Given the description of an element on the screen output the (x, y) to click on. 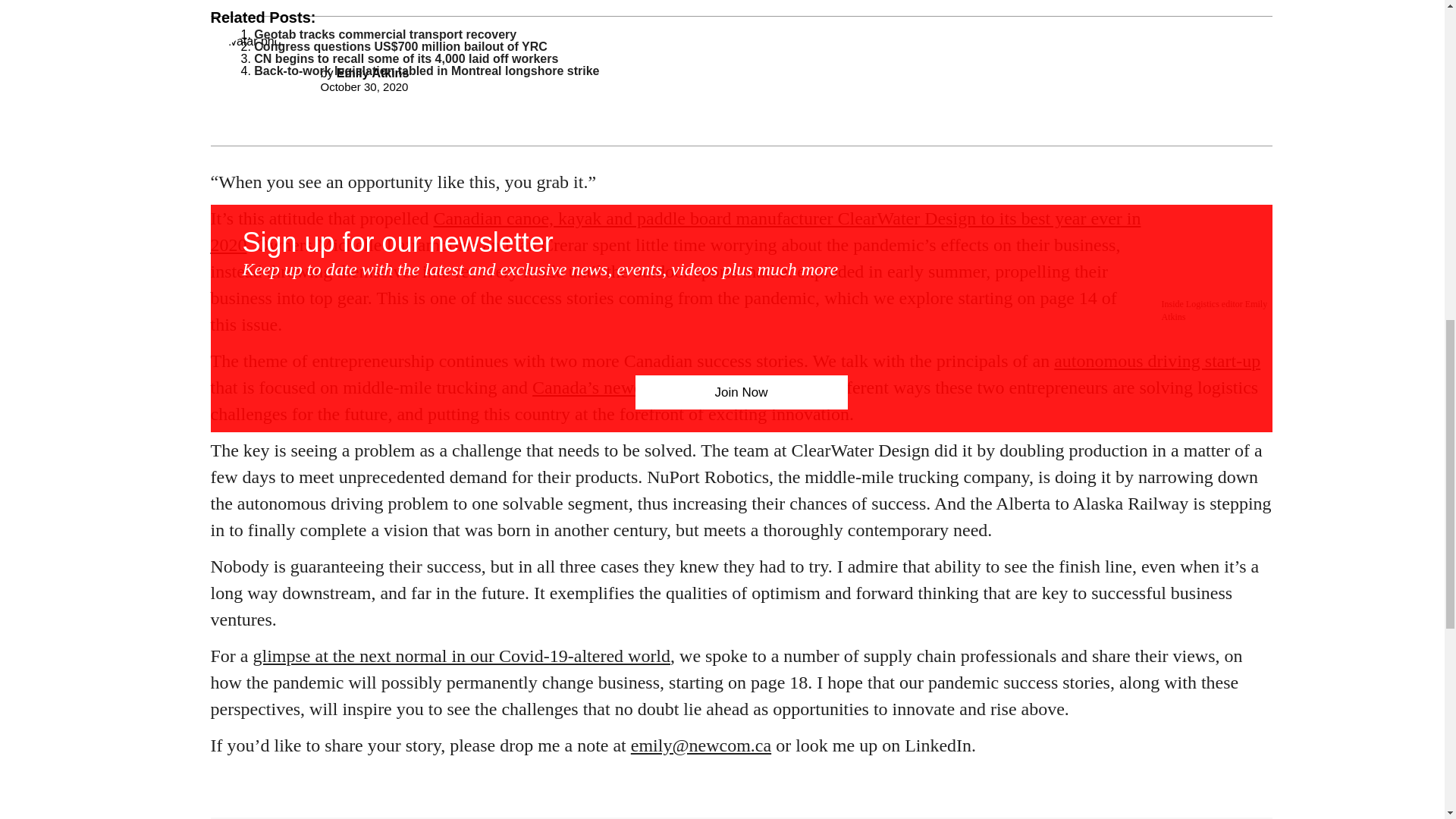
Back-to-work legislation tabled in Montreal longshore strike (425, 70)
autonomous driving start-up (1157, 361)
Geotab tracks commercial transport recovery (384, 33)
glimpse at the next normal in our Covid-19-altered world (462, 655)
CN begins to recall some of its 4,000 laid off workers (405, 58)
Geotab tracks commercial transport recovery (384, 33)
CN begins to recall some of its 4,000 laid off workers (405, 58)
